Given the description of an element on the screen output the (x, y) to click on. 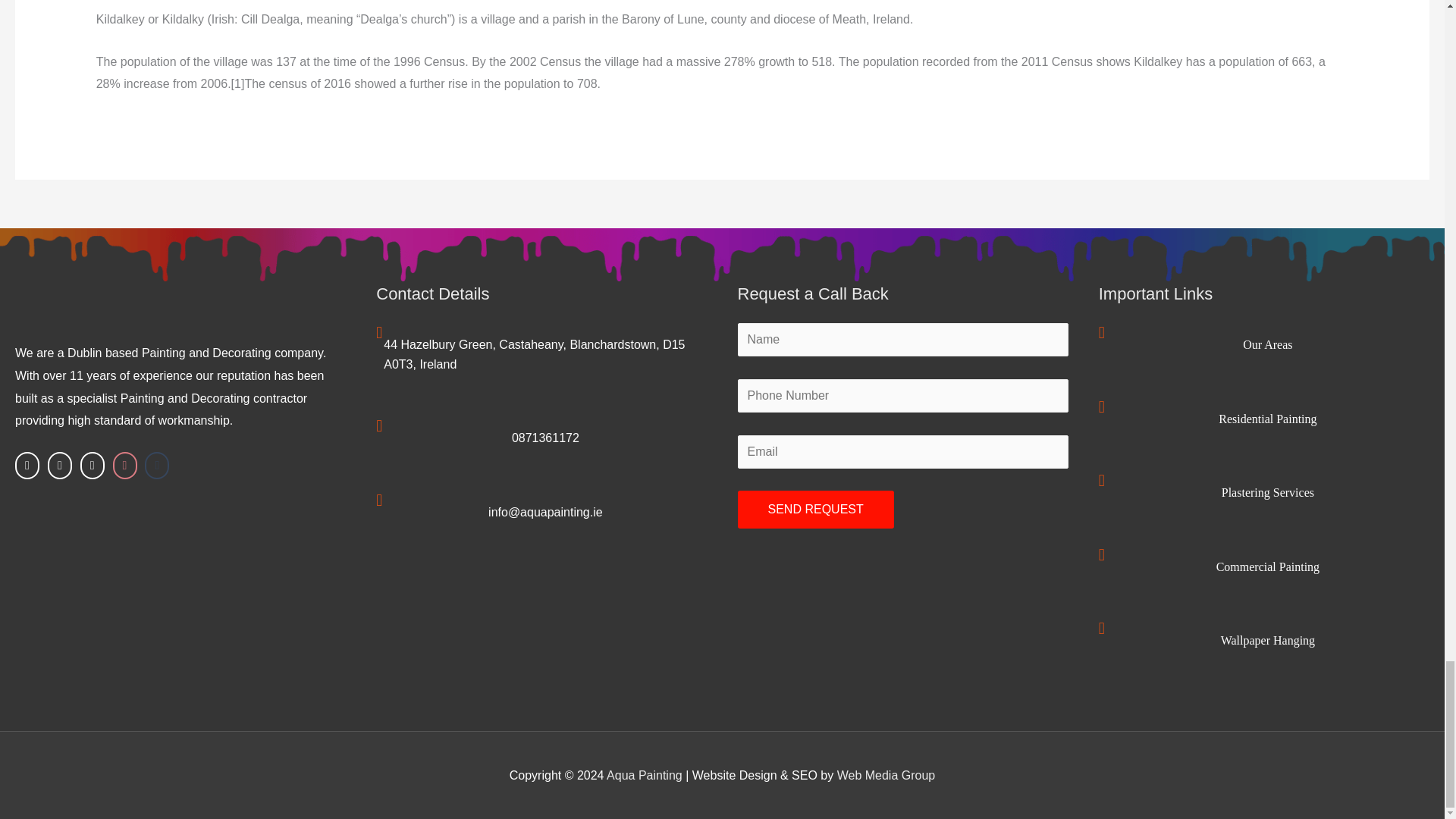
0871361172 (545, 437)
SEND REQUEST (814, 509)
